Given the description of an element on the screen output the (x, y) to click on. 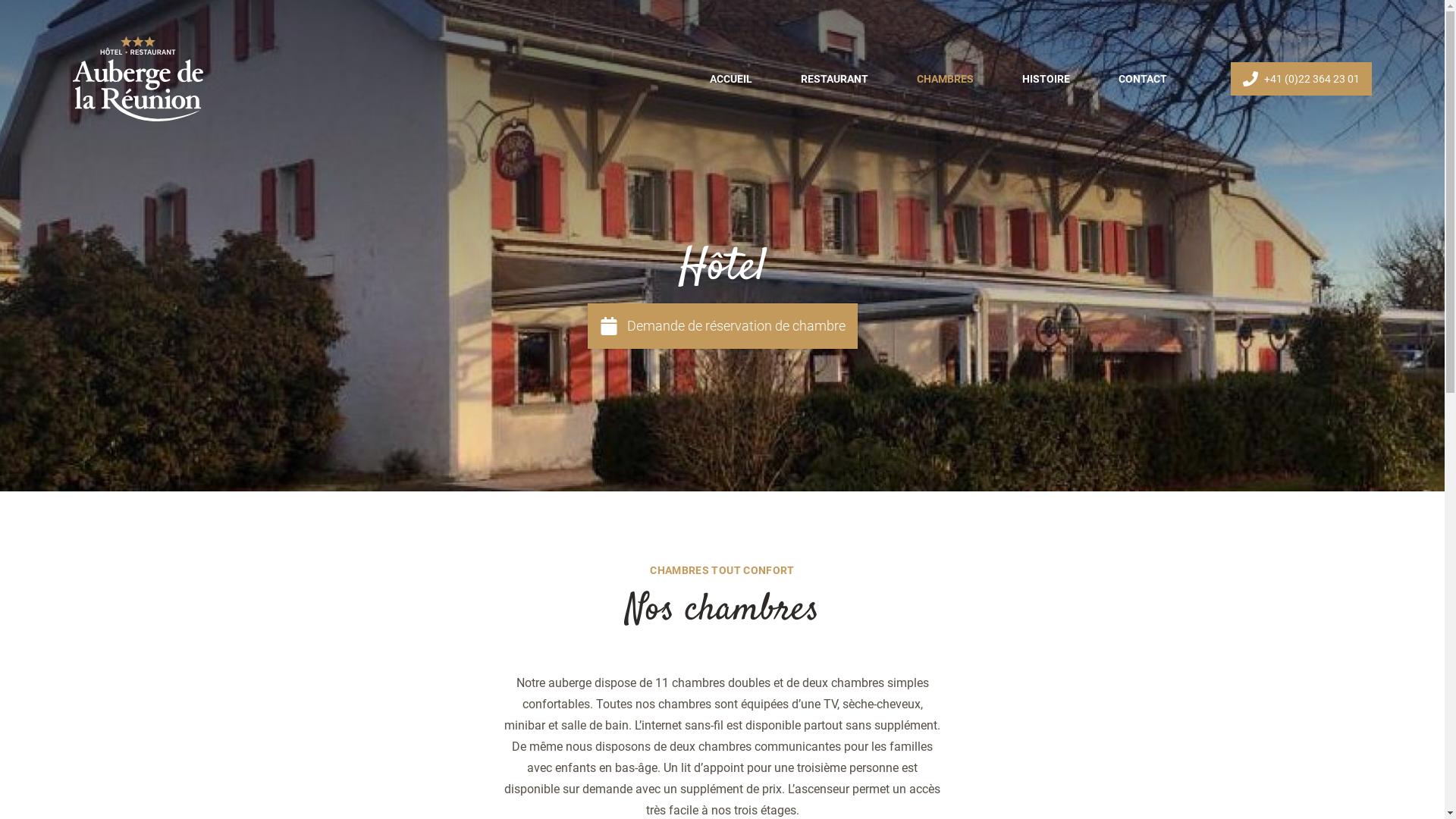
ACCUEIL Element type: text (730, 78)
HISTOIRE Element type: text (1045, 78)
Aller au contenu principal Element type: text (0, 0)
CONTACT Element type: text (1142, 78)
RESTAURANT Element type: text (834, 78)
+41 (0)22 364 23 01 Element type: text (1300, 78)
CHAMBRES Element type: text (944, 78)
